Given the description of an element on the screen output the (x, y) to click on. 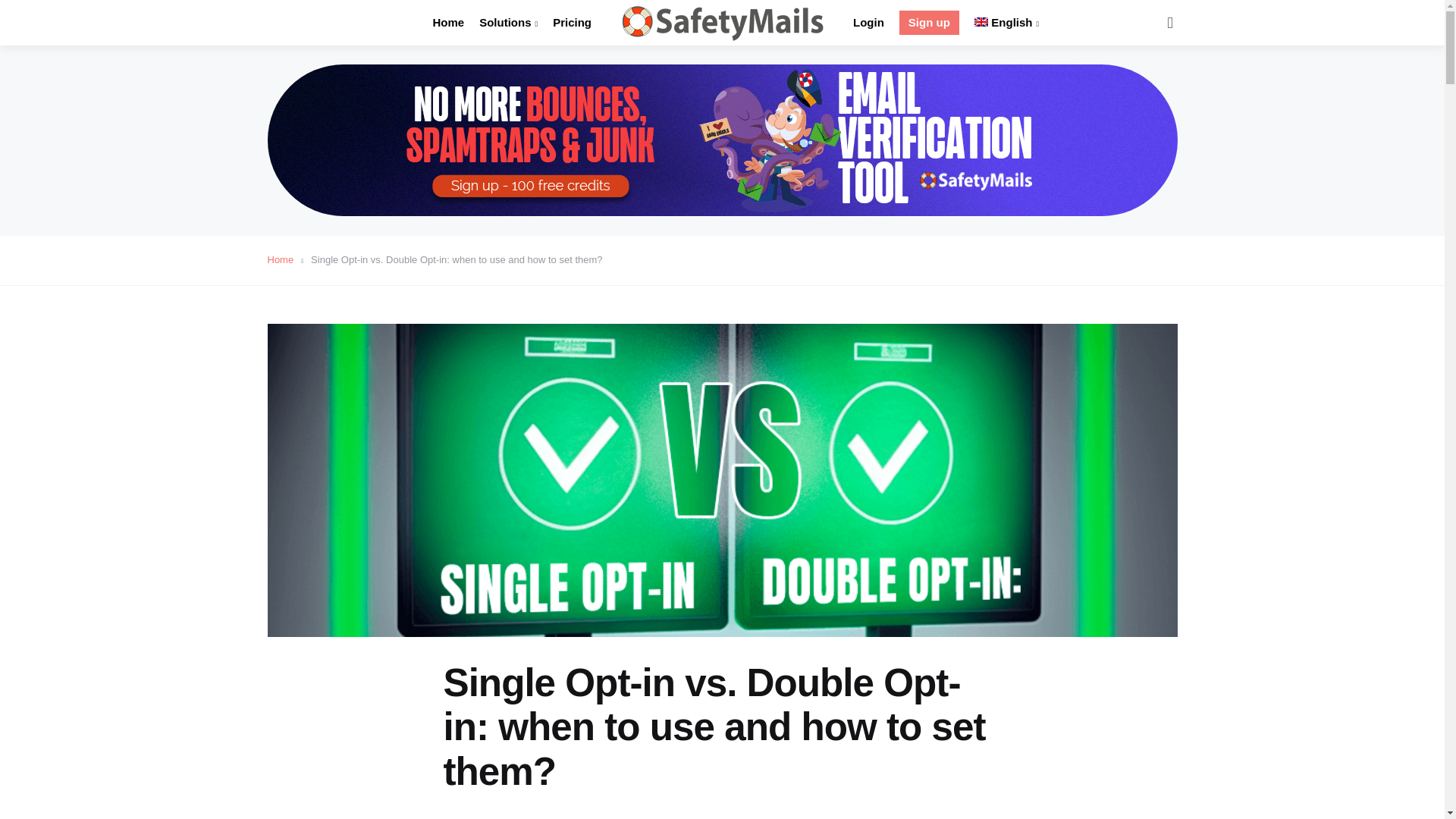
Home (448, 23)
Solutions (508, 23)
Sign up (929, 23)
Pricing (572, 23)
English (1006, 23)
Home (284, 259)
English (1006, 23)
Login (868, 23)
